Given the description of an element on the screen output the (x, y) to click on. 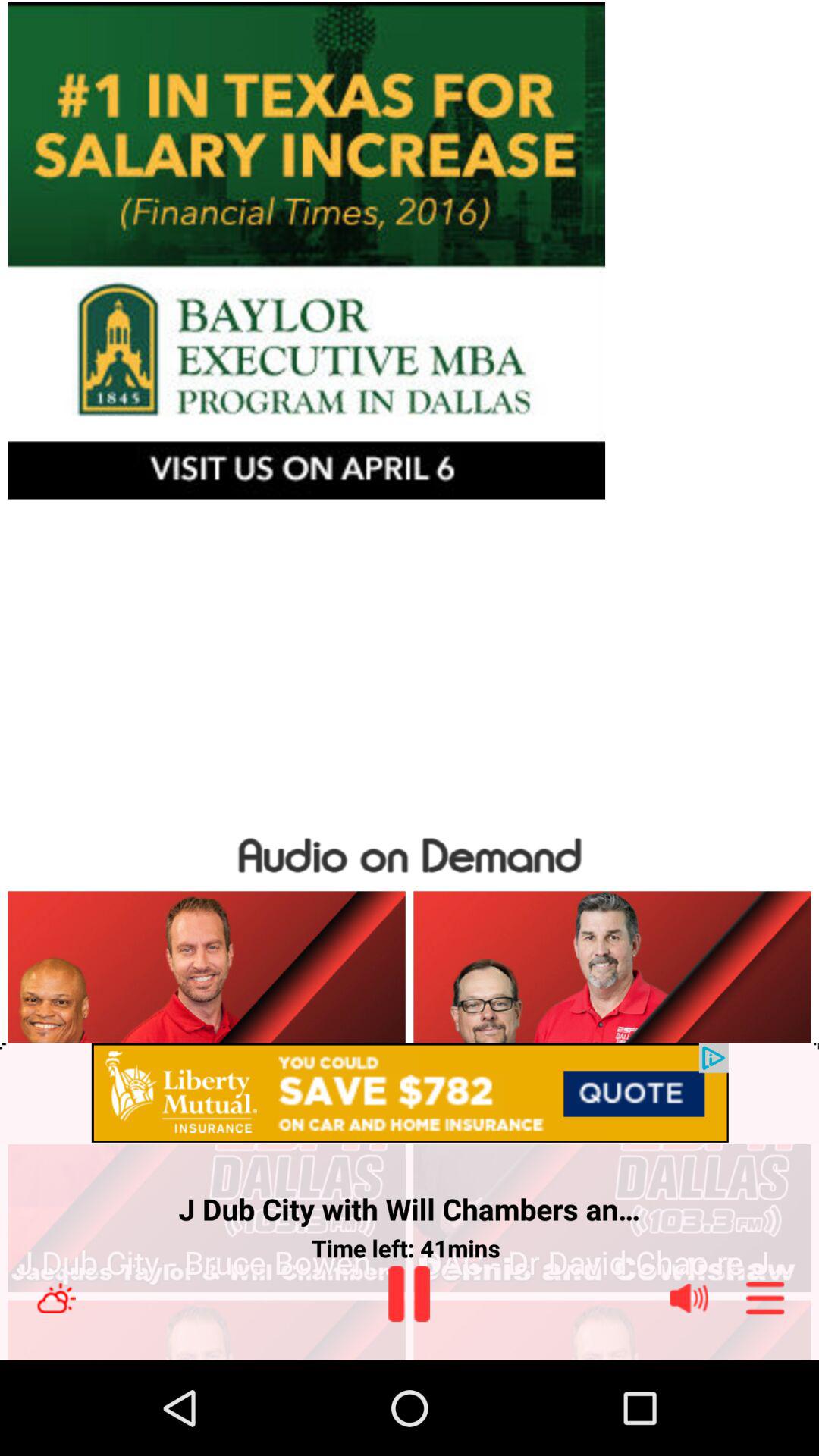
weather status (56, 1298)
